Given the description of an element on the screen output the (x, y) to click on. 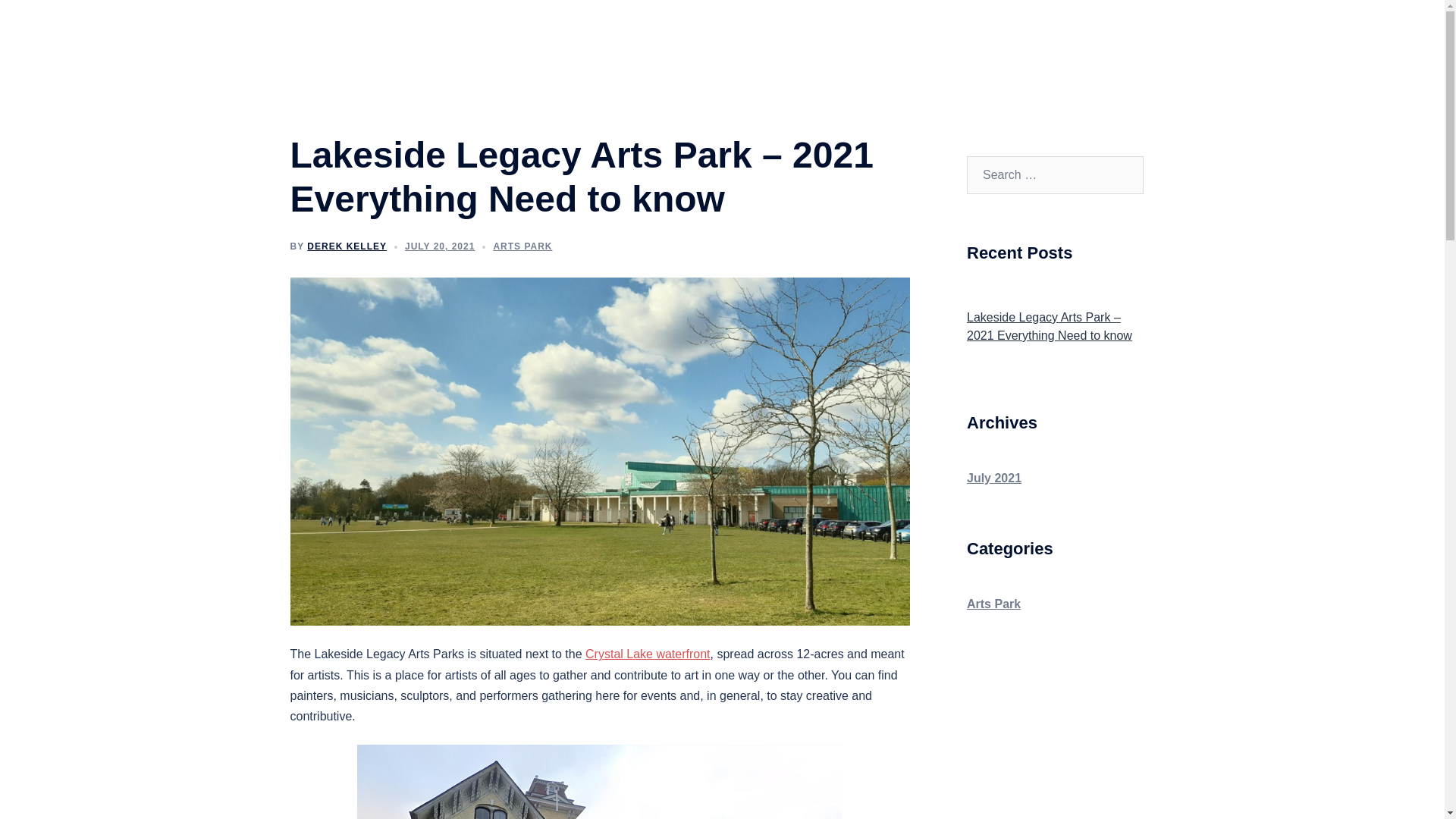
Home (862, 34)
ARTS PARK (522, 245)
Crystal Lake waterfront (647, 653)
July 2021 (994, 477)
DEREK KELLEY (347, 245)
JULY 20, 2021 (439, 245)
Search (88, 18)
Privacy Policy (1009, 34)
Blog (926, 34)
Arts Park (993, 603)
Lakeside Legacy (397, 33)
Contact Us (1107, 34)
